Given the description of an element on the screen output the (x, y) to click on. 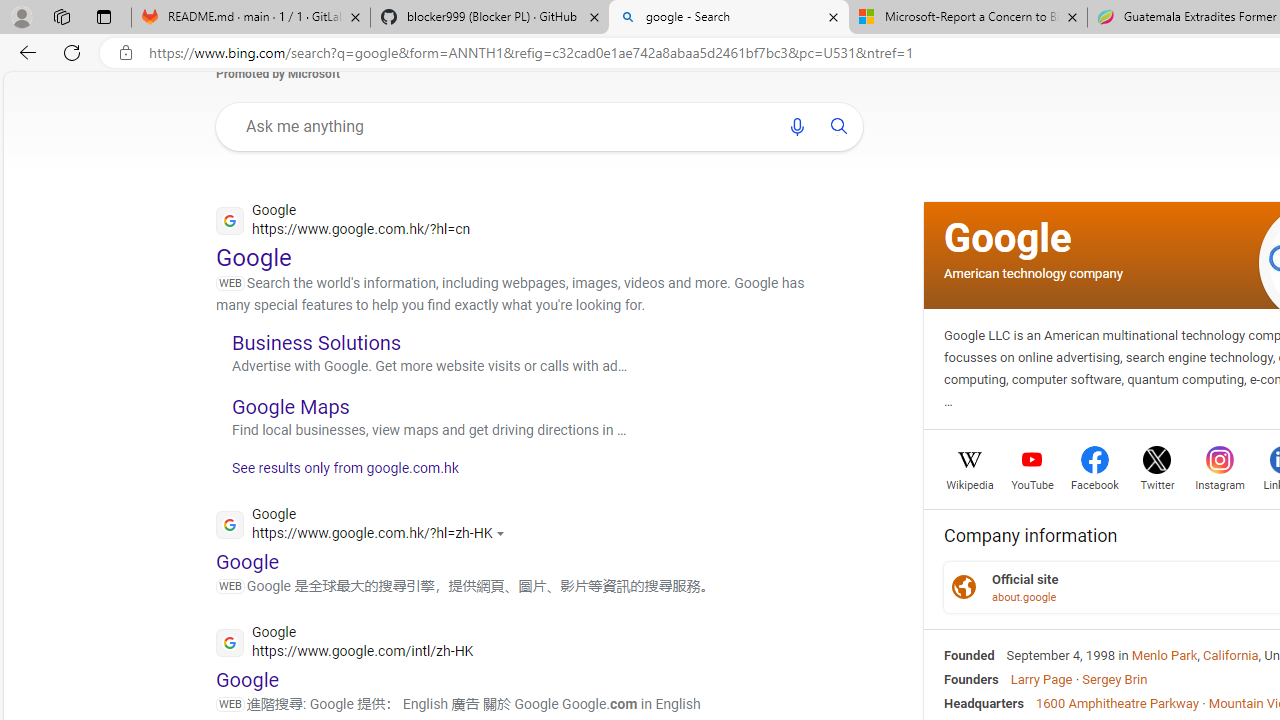
Sergey Brin (1114, 678)
Headquarters (984, 702)
Search using voice (797, 125)
Founders (971, 678)
Larry Page (1040, 678)
Class: sp-ofsite (963, 587)
Menlo Park (1164, 655)
American technology company (1033, 272)
Facebook (1094, 483)
See results only from google.com.hk (337, 473)
